Given the description of an element on the screen output the (x, y) to click on. 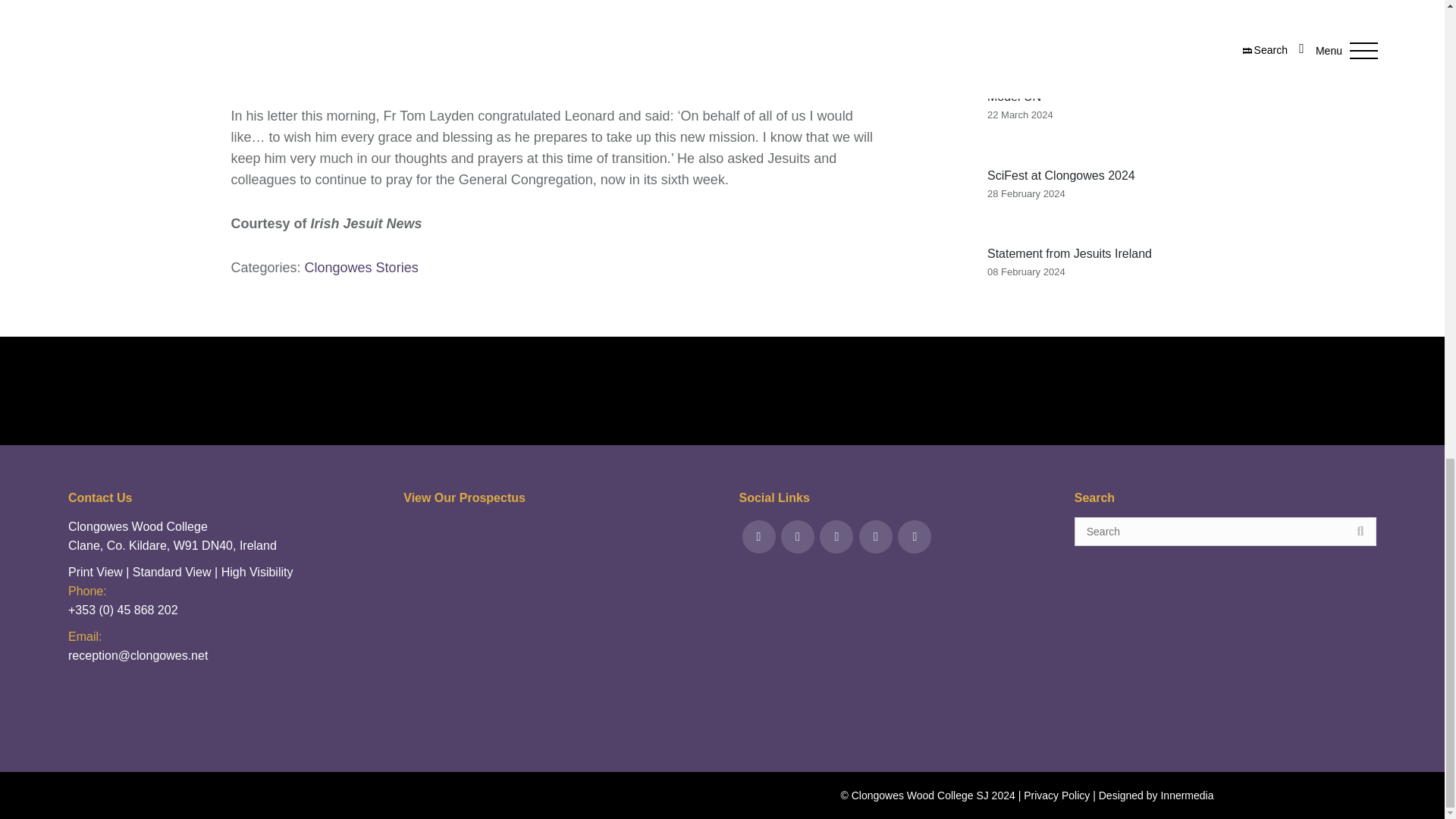
Switch to Standard Visibility (171, 571)
Switch to High Visibility (257, 571)
Switch to Print (95, 571)
